Given the description of an element on the screen output the (x, y) to click on. 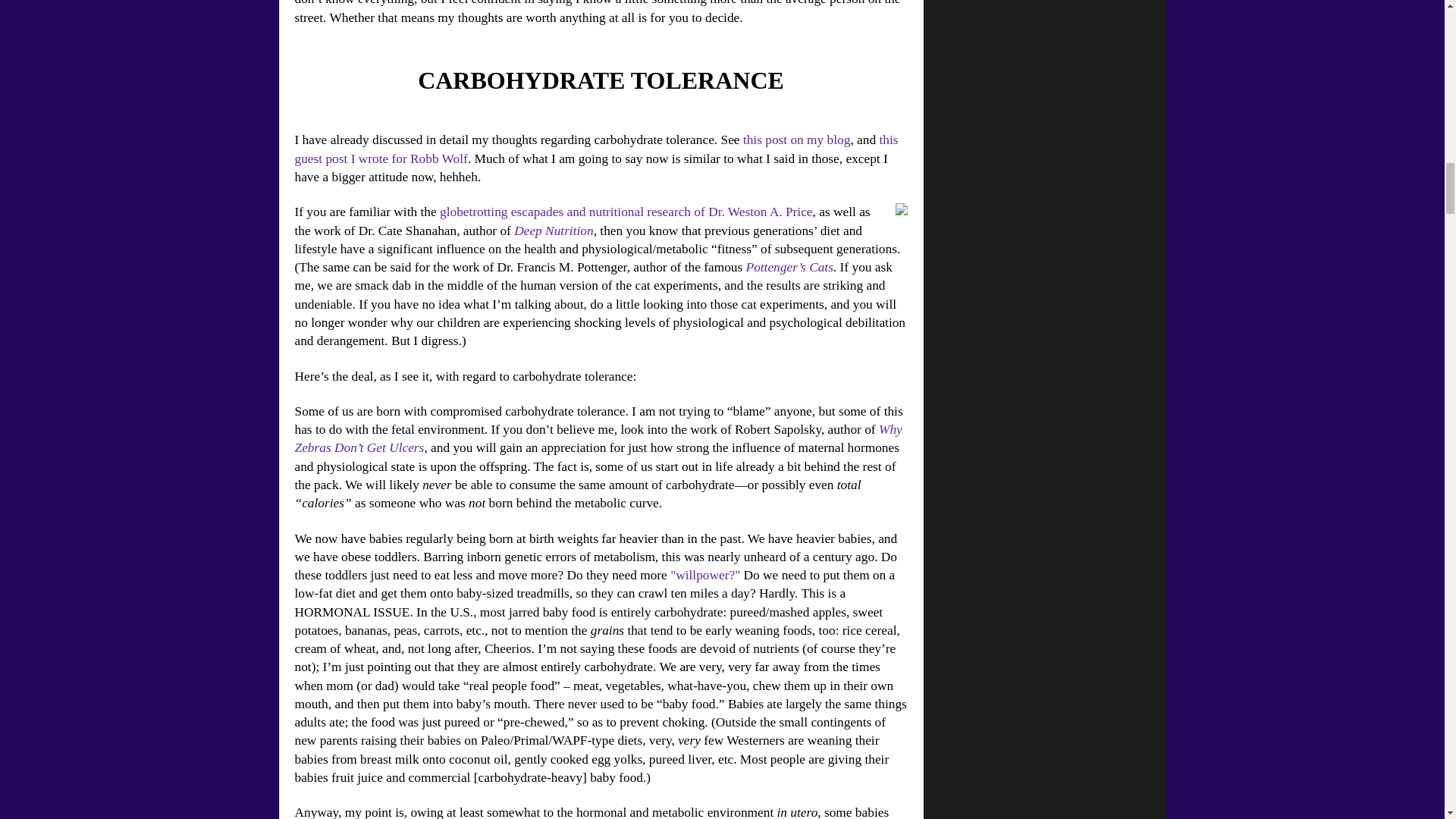
"willpower?" (704, 575)
this guest post I wrote for Robb Wolf (596, 148)
Deep Nutrition (552, 230)
this post on my blog (796, 139)
